Given the description of an element on the screen output the (x, y) to click on. 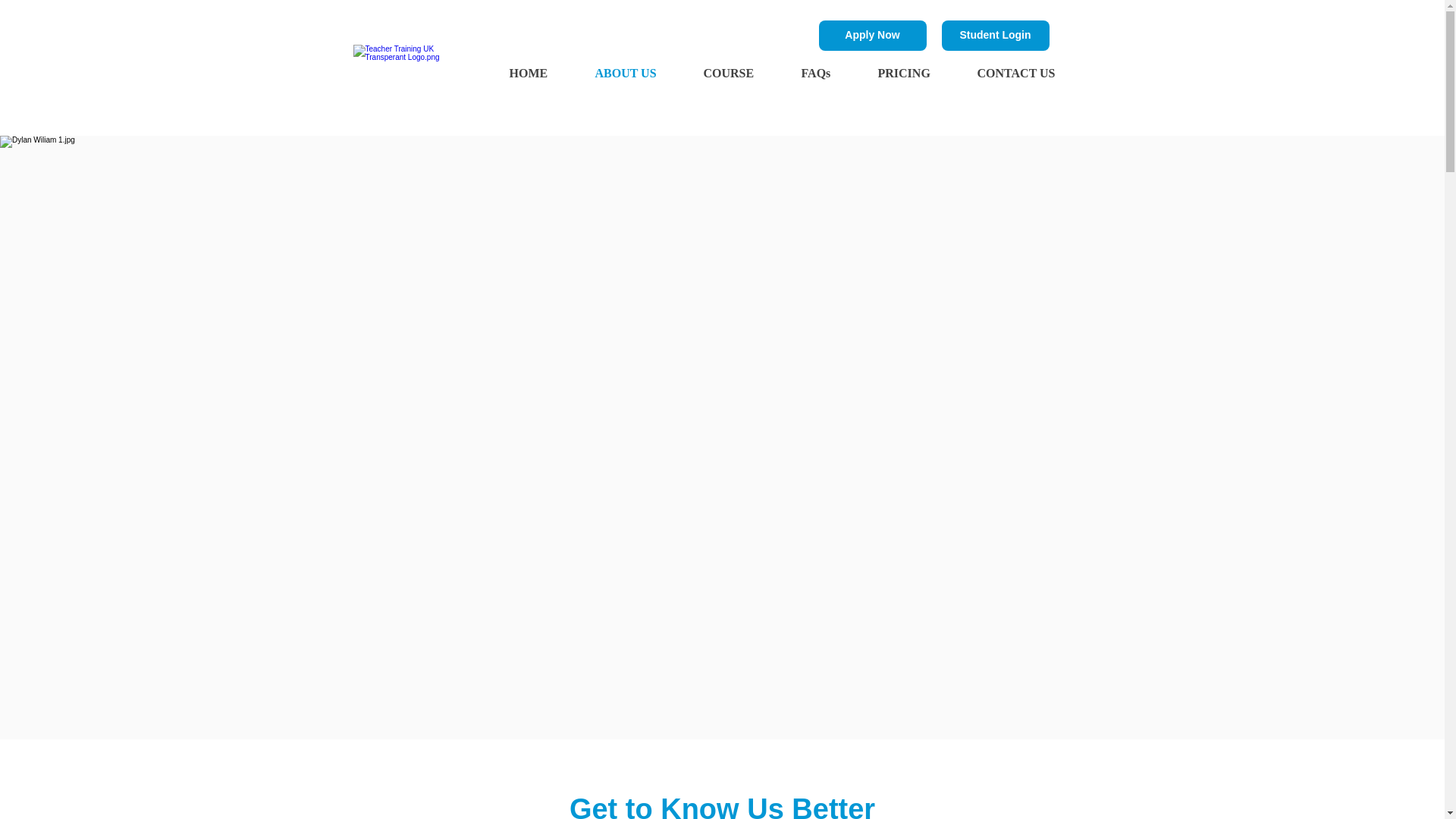
ABOUT US (638, 73)
Apply Now (872, 35)
Student Login (995, 35)
PRICING (915, 73)
CONTACT US (1028, 73)
HOME (540, 73)
FAQs (828, 73)
COURSE (740, 73)
